Given the description of an element on the screen output the (x, y) to click on. 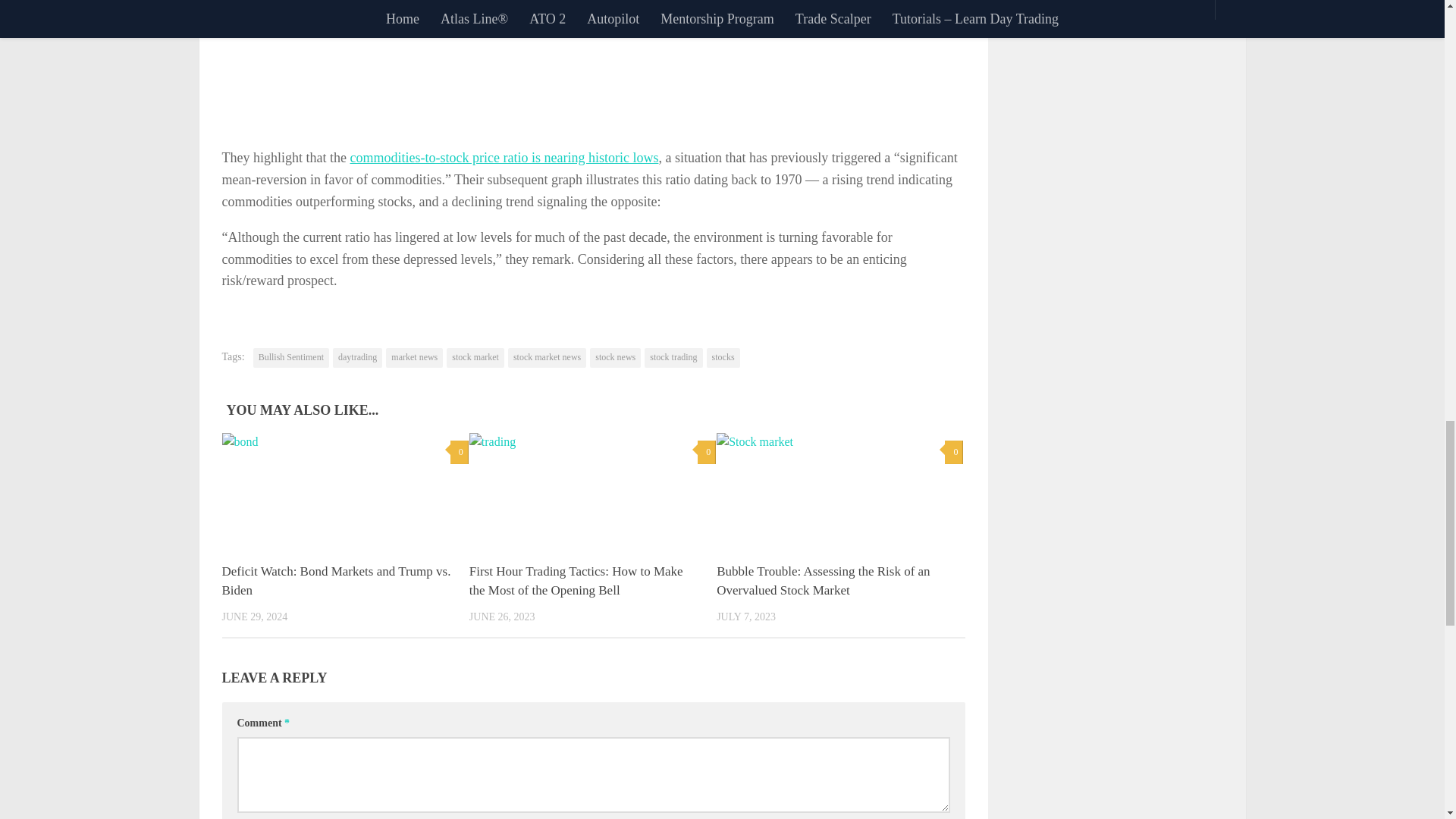
stocks (722, 357)
market news (413, 357)
stock news (614, 357)
commodities-to-stock price ratio is nearing historic lows (503, 157)
Bullish Sentiment (291, 357)
Deficit Watch: Bond Markets and Trump vs. Biden (335, 581)
stock market news (547, 357)
stock trading (673, 357)
daytrading (357, 357)
stock market (474, 357)
